Given the description of an element on the screen output the (x, y) to click on. 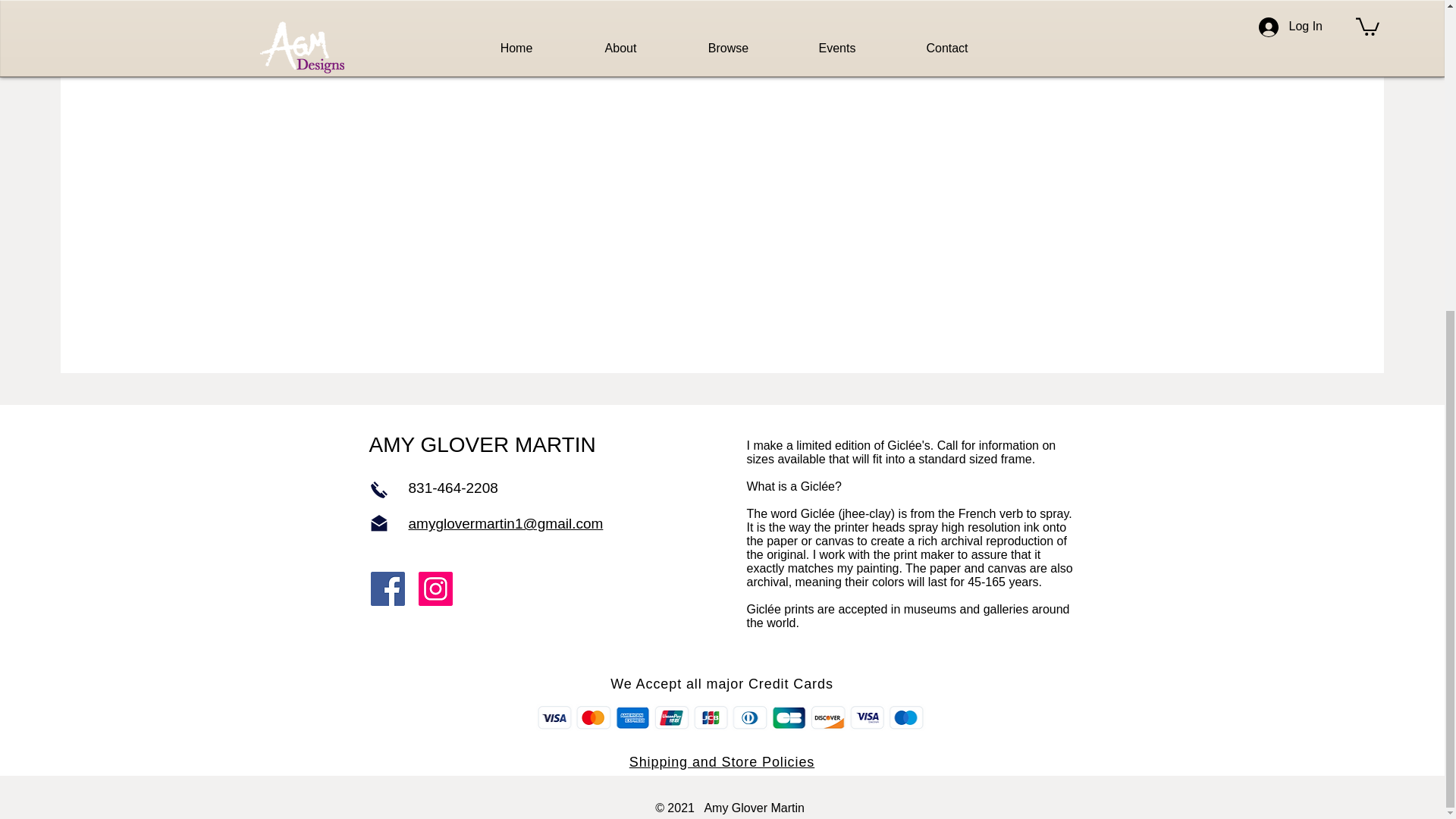
Shipping and Store Policies (720, 774)
